Given the description of an element on the screen output the (x, y) to click on. 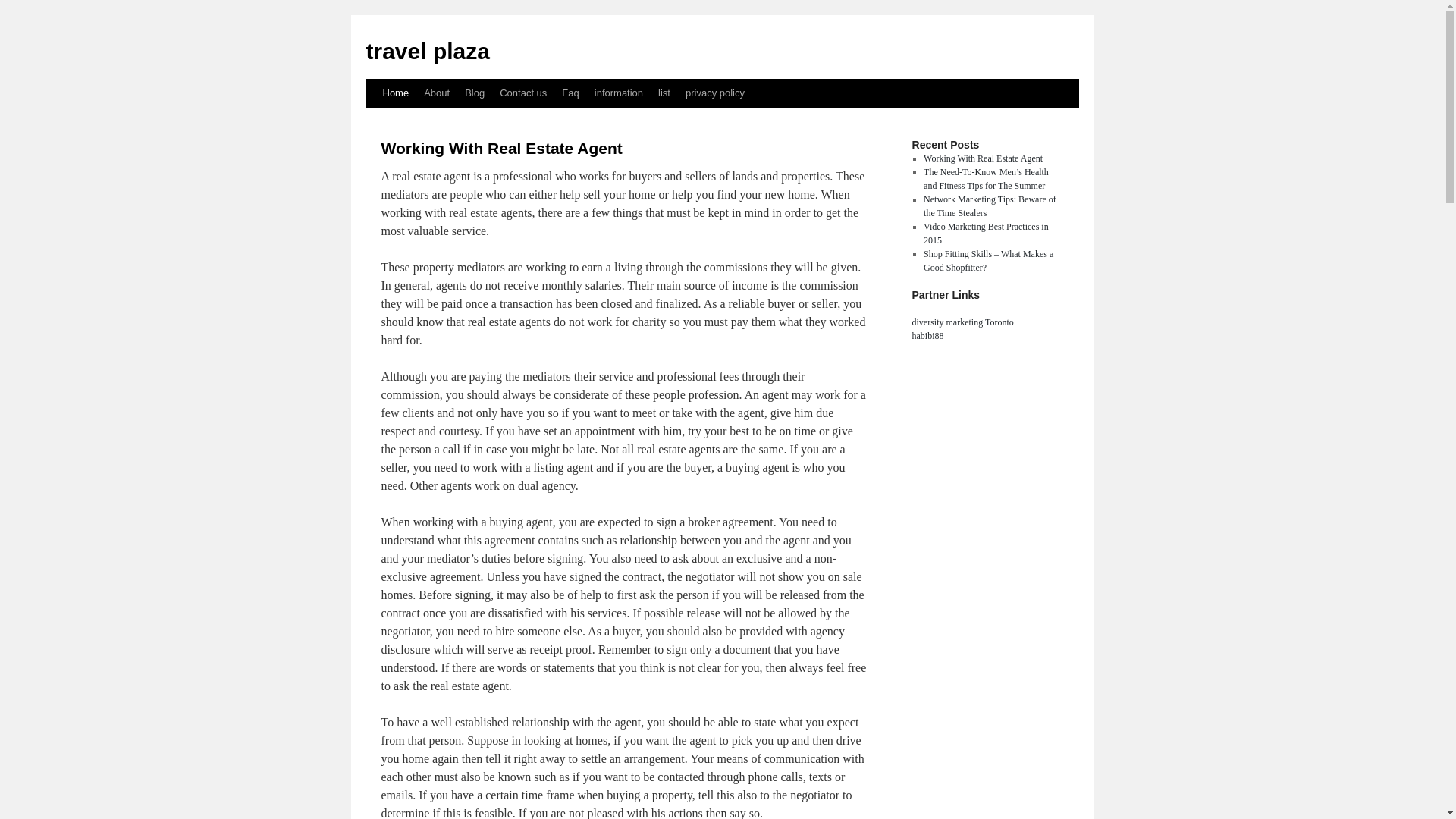
list (664, 92)
travel plaza (427, 50)
Contact us (523, 92)
privacy policy (715, 92)
information (618, 92)
travel plaza (427, 50)
Blog (474, 92)
About (436, 92)
Working With Real Estate Agent (500, 148)
information (618, 92)
